Given the description of an element on the screen output the (x, y) to click on. 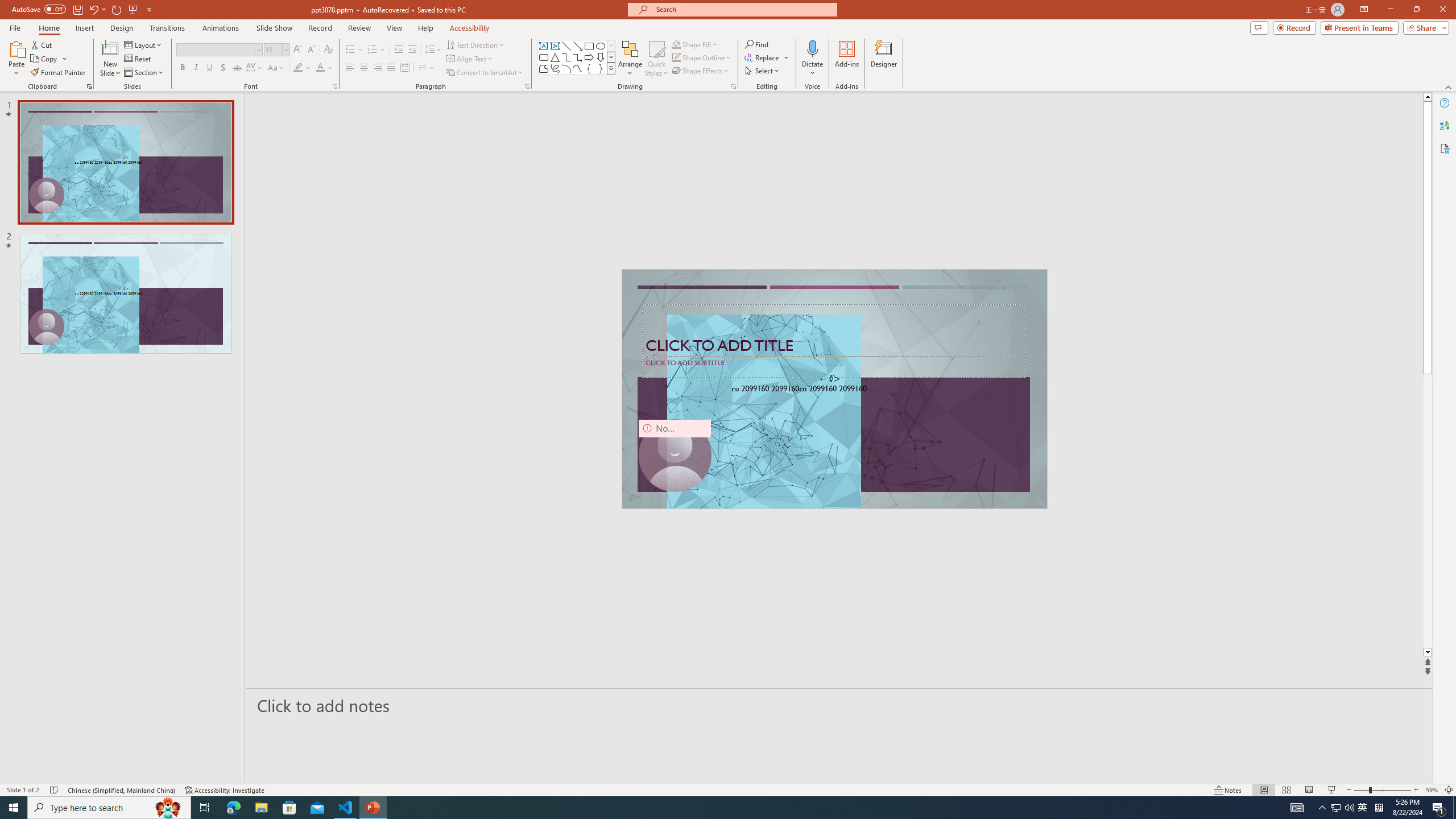
Camera 9, No camera detected. (674, 455)
Increase Font Size (297, 49)
Section (144, 72)
Text Box (543, 45)
Line (566, 45)
Translator (1444, 125)
Font... (334, 85)
Font Color (324, 67)
